Given the description of an element on the screen output the (x, y) to click on. 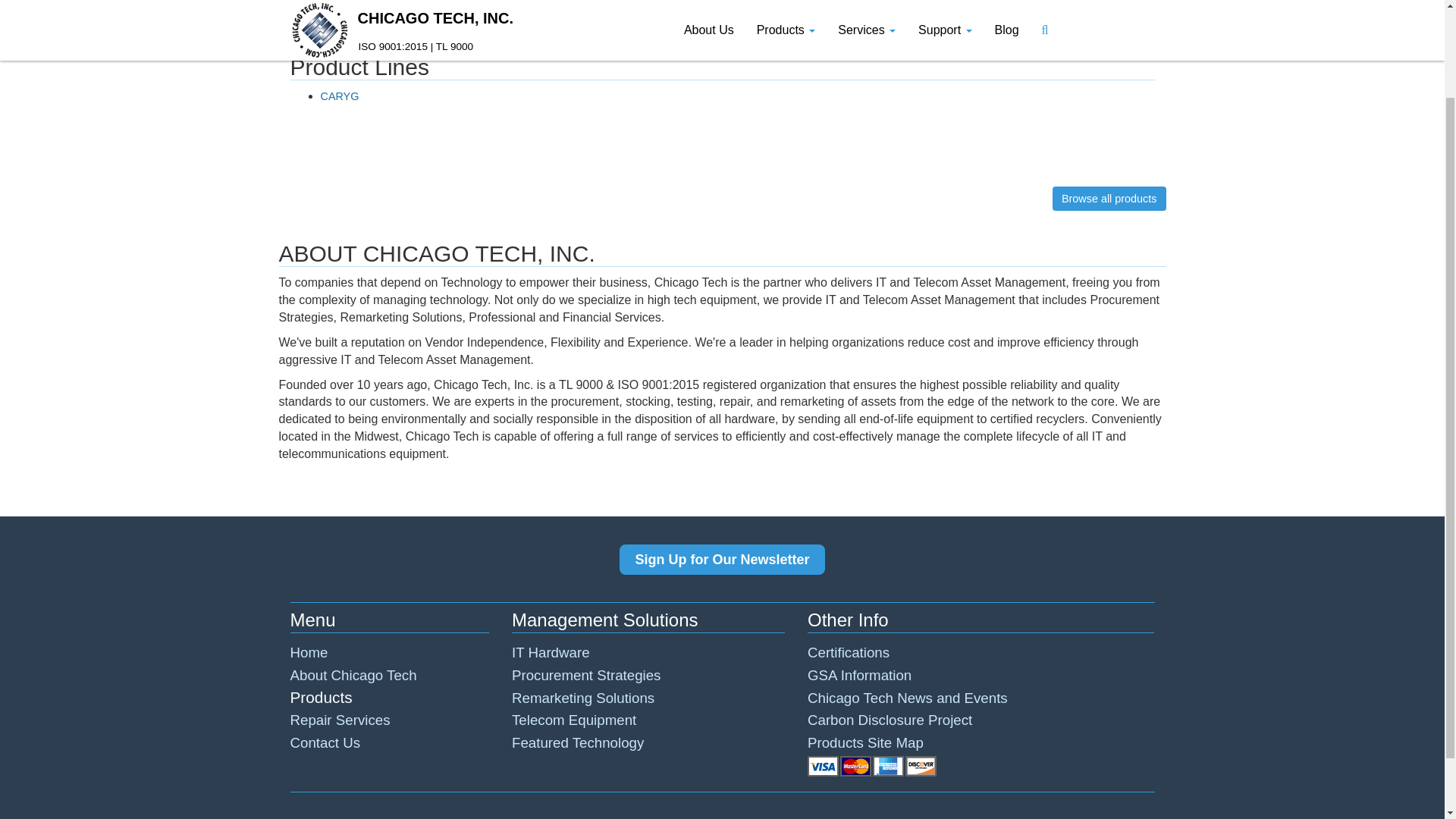
Contact Us (324, 742)
Repair Services (339, 719)
Remarketing Solutions (582, 697)
GSA Information (859, 675)
CARYG (339, 96)
About Chicago Tech (352, 675)
Products Site Map (865, 742)
Refurbished Telecom Equipment (574, 719)
Home (308, 652)
Featured Technology (577, 742)
Certifications (848, 652)
CARYG (339, 96)
Repair Services (339, 719)
Refurbished IT Hardware (550, 652)
News and Events (907, 697)
